Given the description of an element on the screen output the (x, y) to click on. 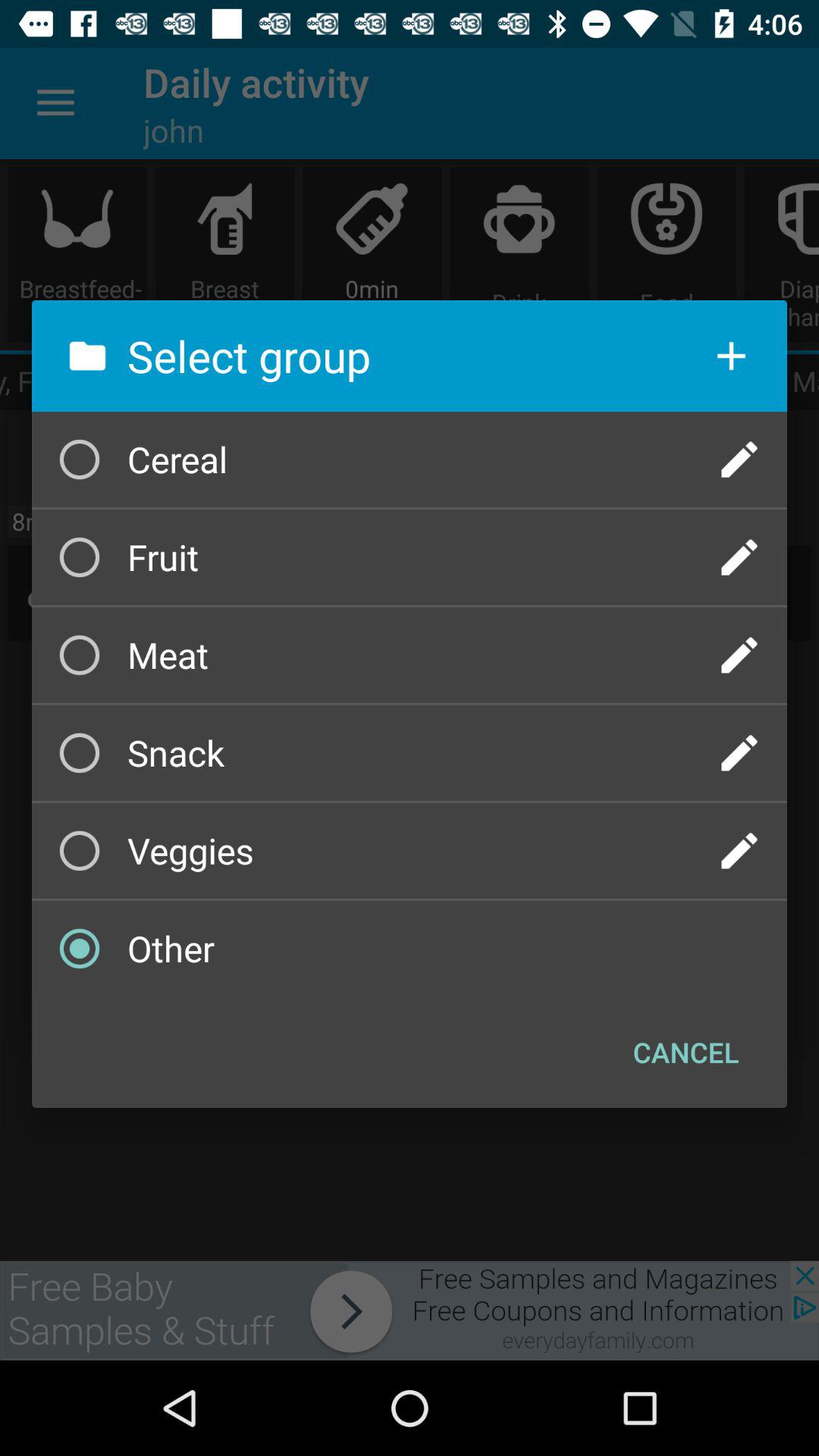
click here to add or edit cereal (739, 459)
